Given the description of an element on the screen output the (x, y) to click on. 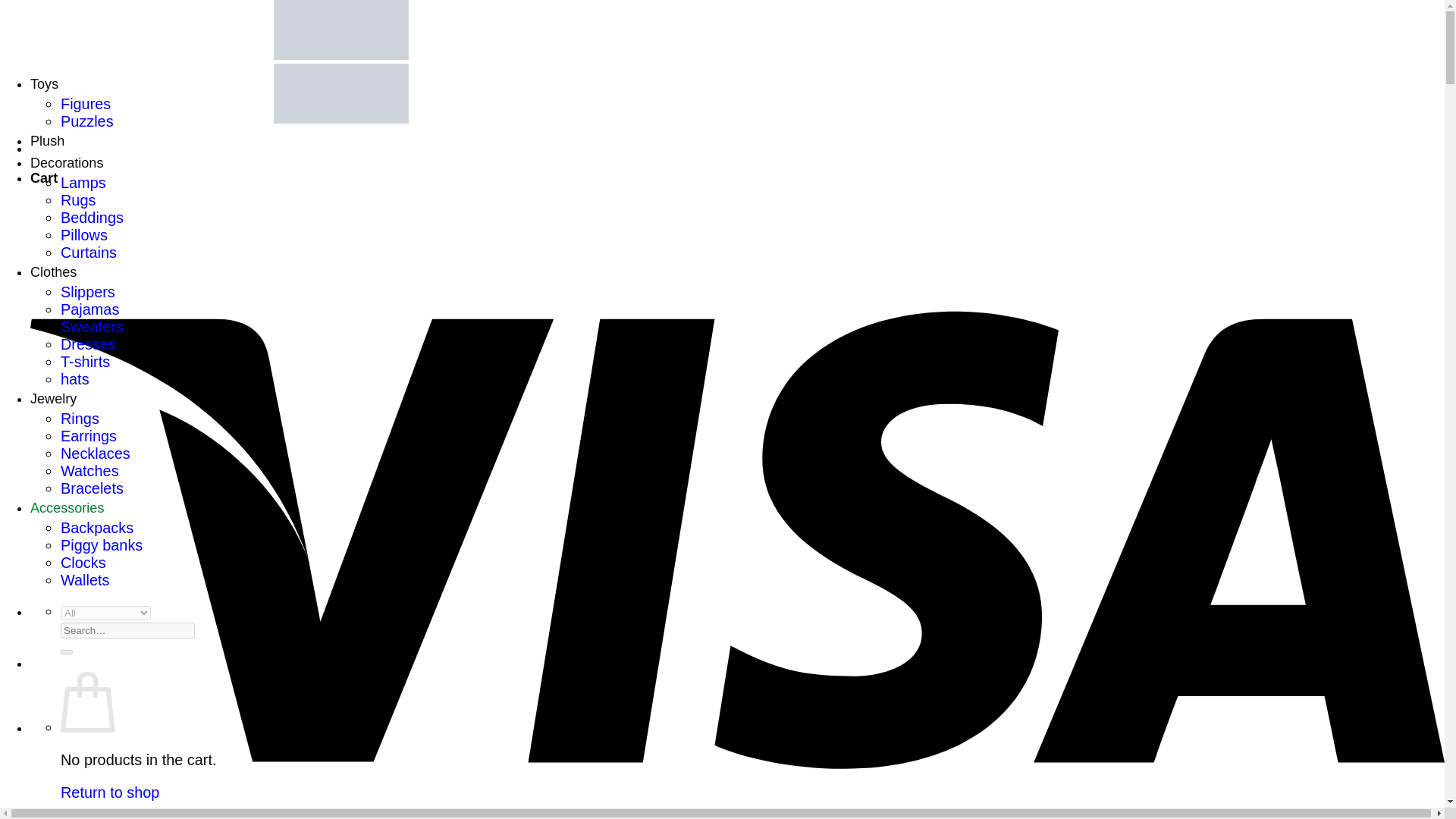
T-shirts (85, 361)
Bracelets (92, 487)
Curtains (88, 252)
Puzzles (87, 121)
Rings (80, 418)
Accessories (66, 507)
Piggy banks (101, 545)
Beddings (92, 217)
Wallets (85, 579)
Lamps (83, 182)
Clothes (53, 272)
Return to shop (109, 791)
Pillows (84, 234)
Earrings (88, 435)
Necklaces (96, 453)
